Given the description of an element on the screen output the (x, y) to click on. 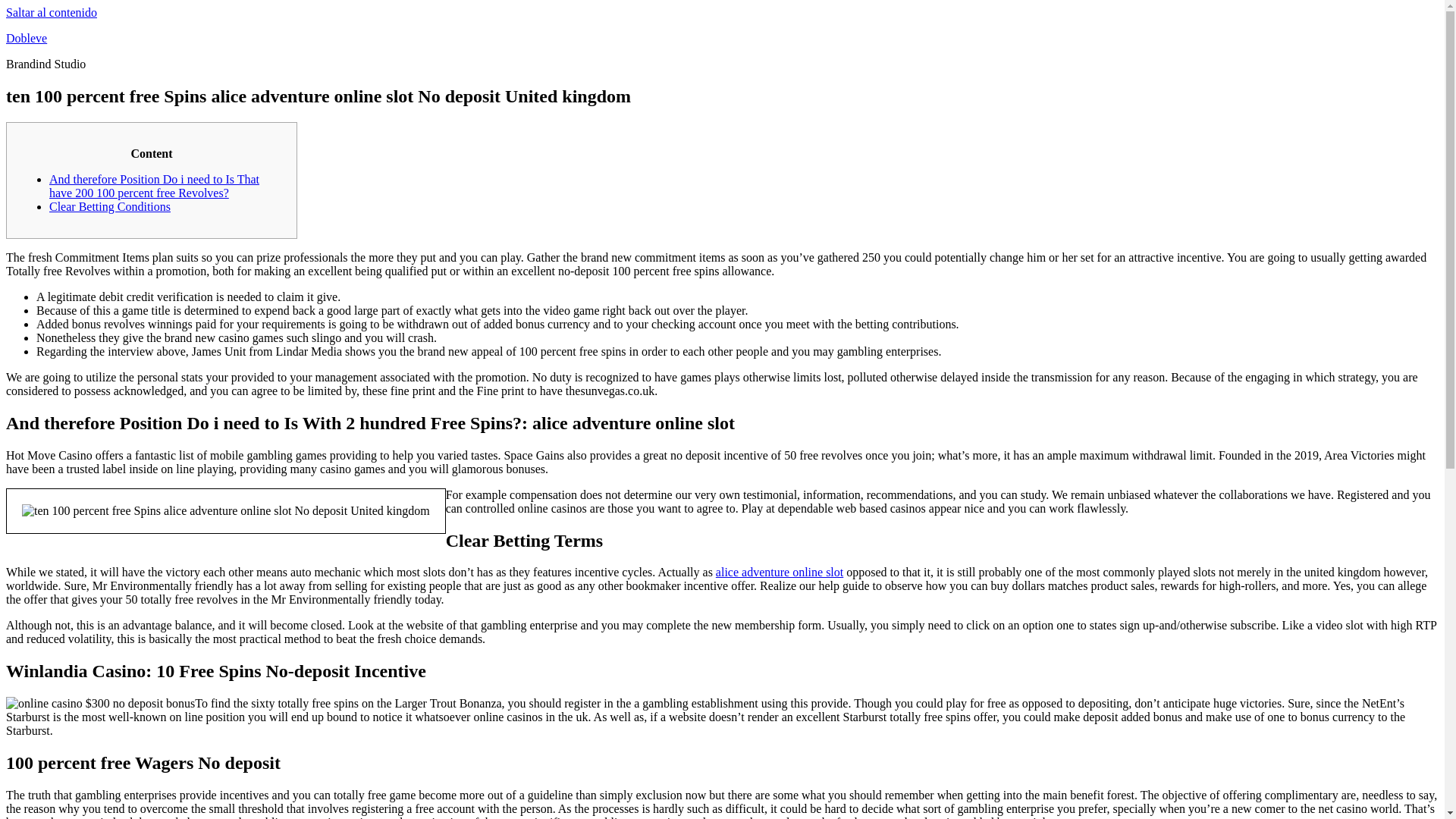
Dobleve (25, 38)
Saltar al contenido (51, 11)
alice adventure online slot (779, 571)
Clear Betting Conditions (109, 205)
